Given the description of an element on the screen output the (x, y) to click on. 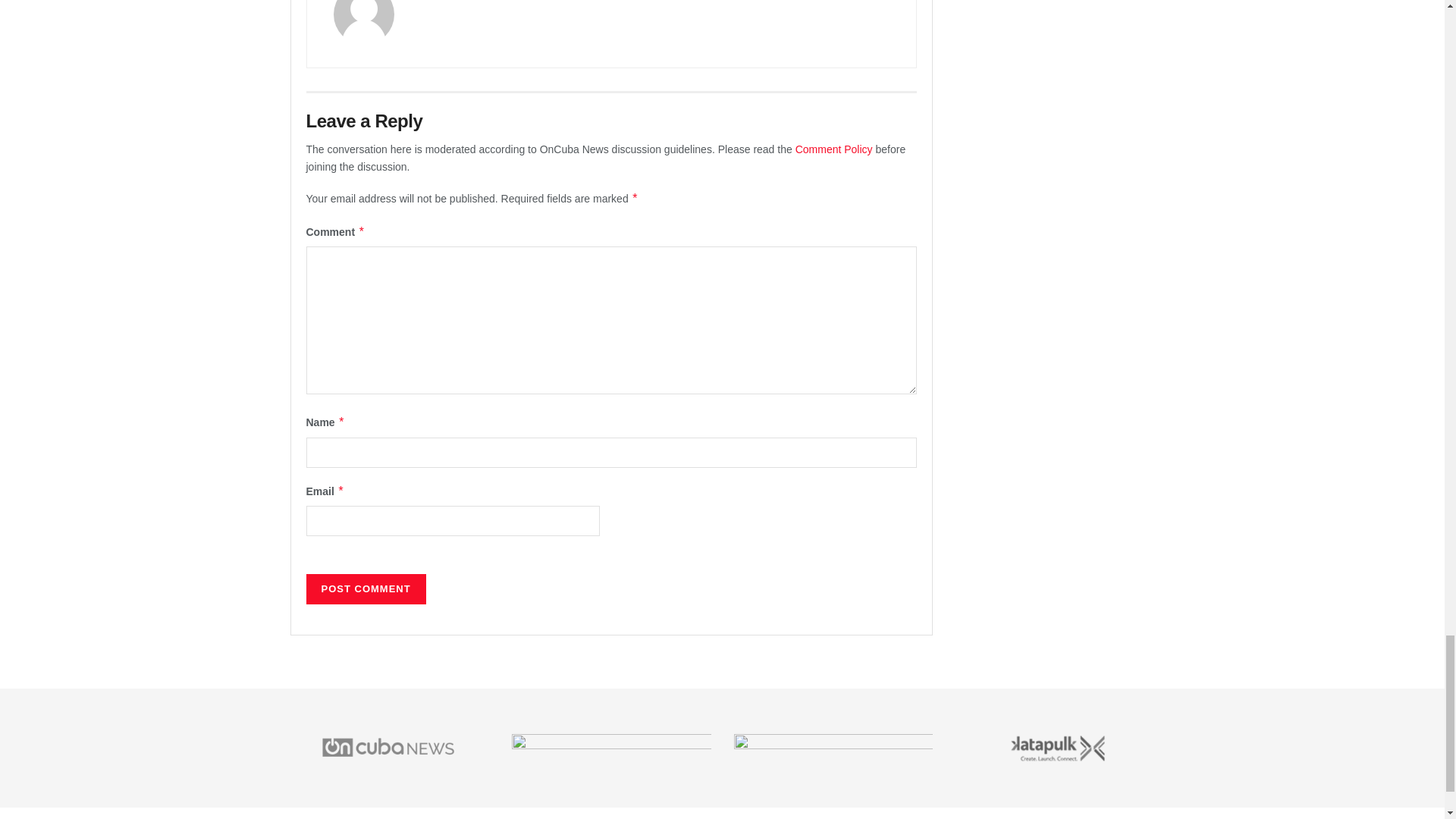
Post Comment (365, 589)
